Given the description of an element on the screen output the (x, y) to click on. 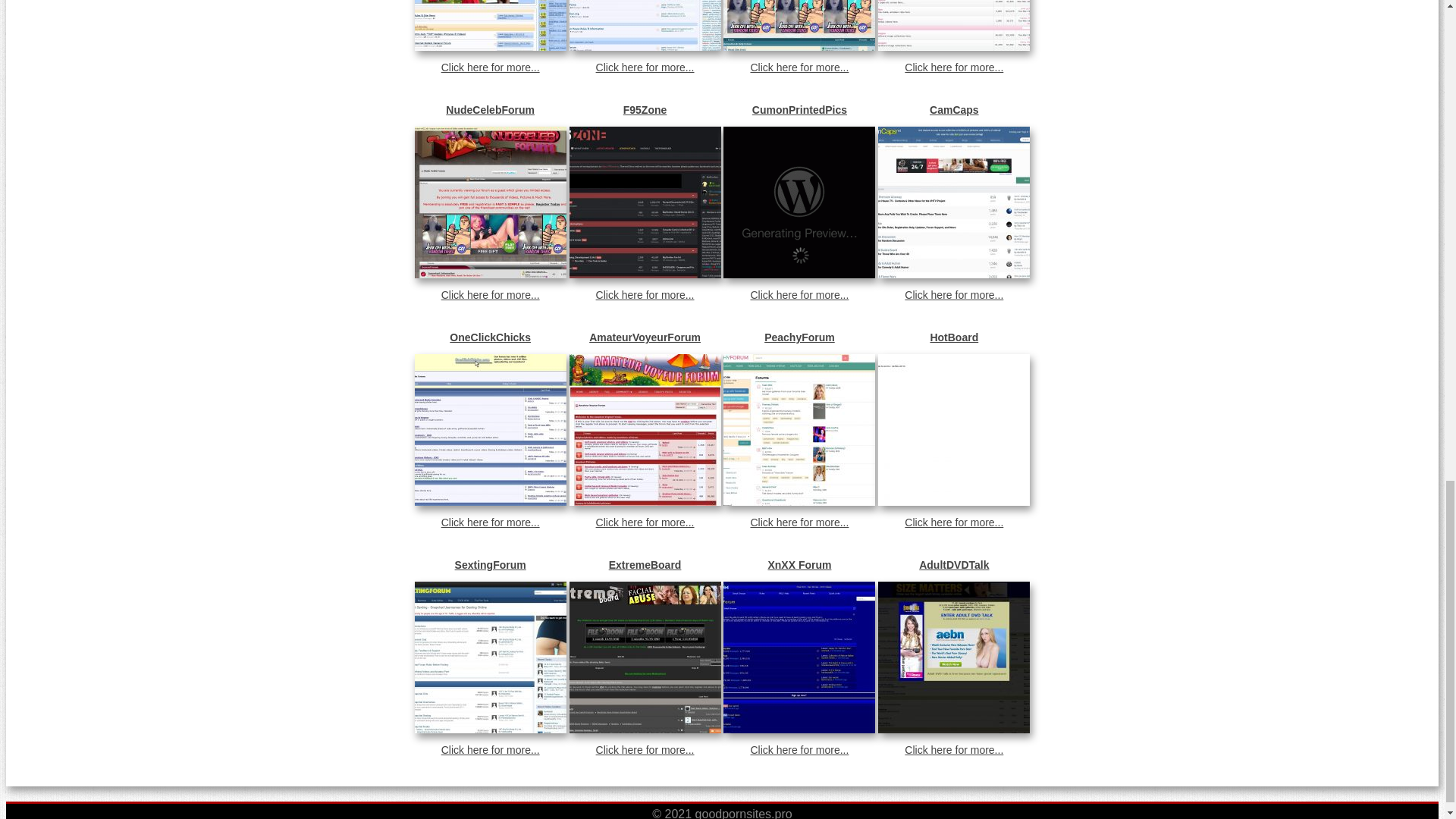
Click here for more... (798, 67)
Click here for more... (644, 67)
Click here for more... (490, 295)
Click here for more... (490, 67)
NudeCelebForum (490, 110)
CumonPrintedPics (799, 110)
F95Zone (644, 110)
Click here for more... (953, 67)
Click here for more... (798, 295)
CamCaps (953, 110)
Click here for more... (644, 295)
